Given the description of an element on the screen output the (x, y) to click on. 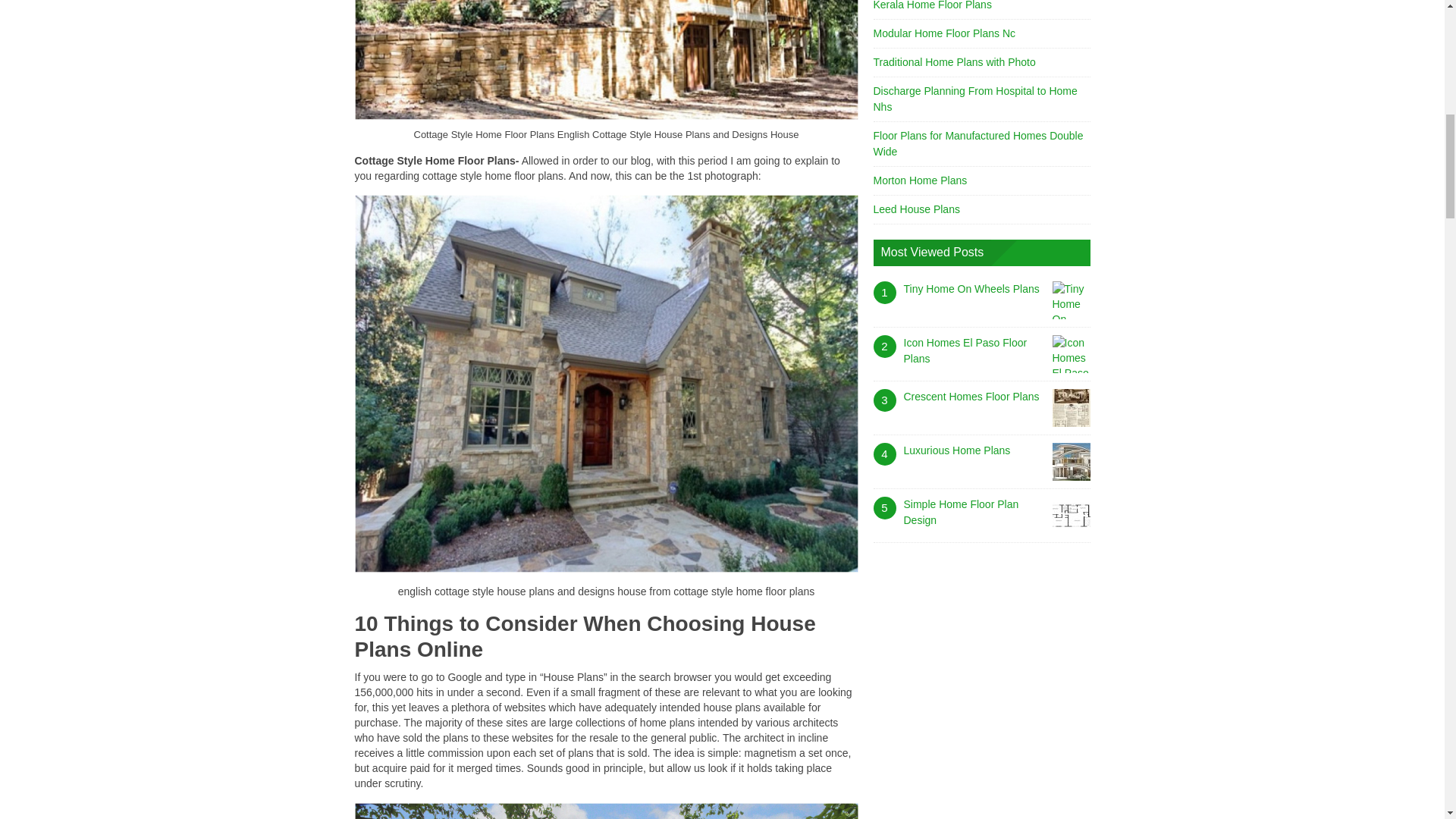
hot springs cottage house plan gable country farmhouse (607, 811)
